Given the description of an element on the screen output the (x, y) to click on. 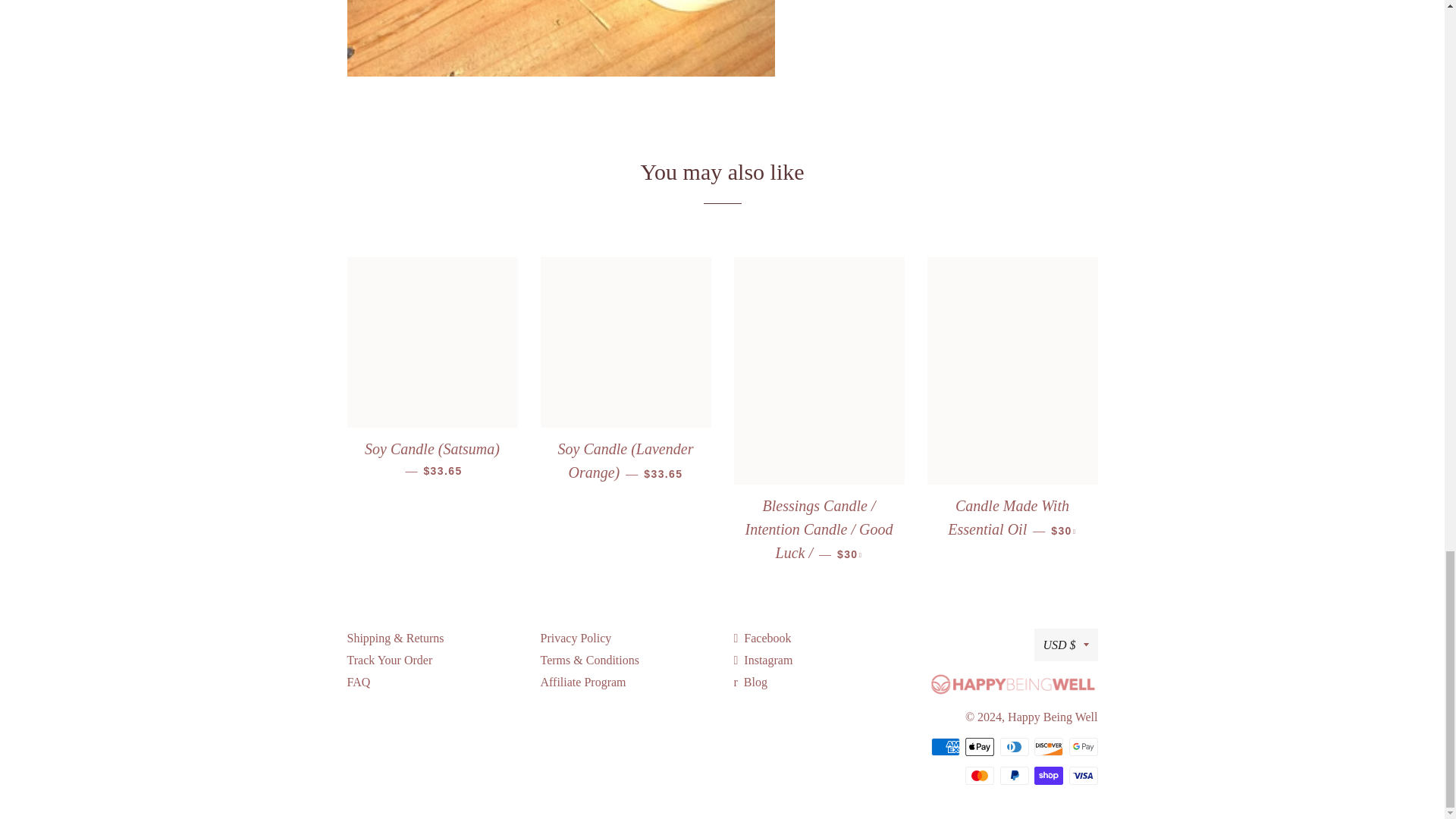
Shop Pay (1047, 775)
Apple Pay (979, 746)
Visa (1082, 775)
Happy Being Well on Blog (750, 680)
Mastercard (979, 775)
Happy Being Well on Facebook (762, 636)
Diners Club (1012, 746)
American Express (945, 746)
Discover (1047, 746)
PayPal (1012, 775)
